Given the description of an element on the screen output the (x, y) to click on. 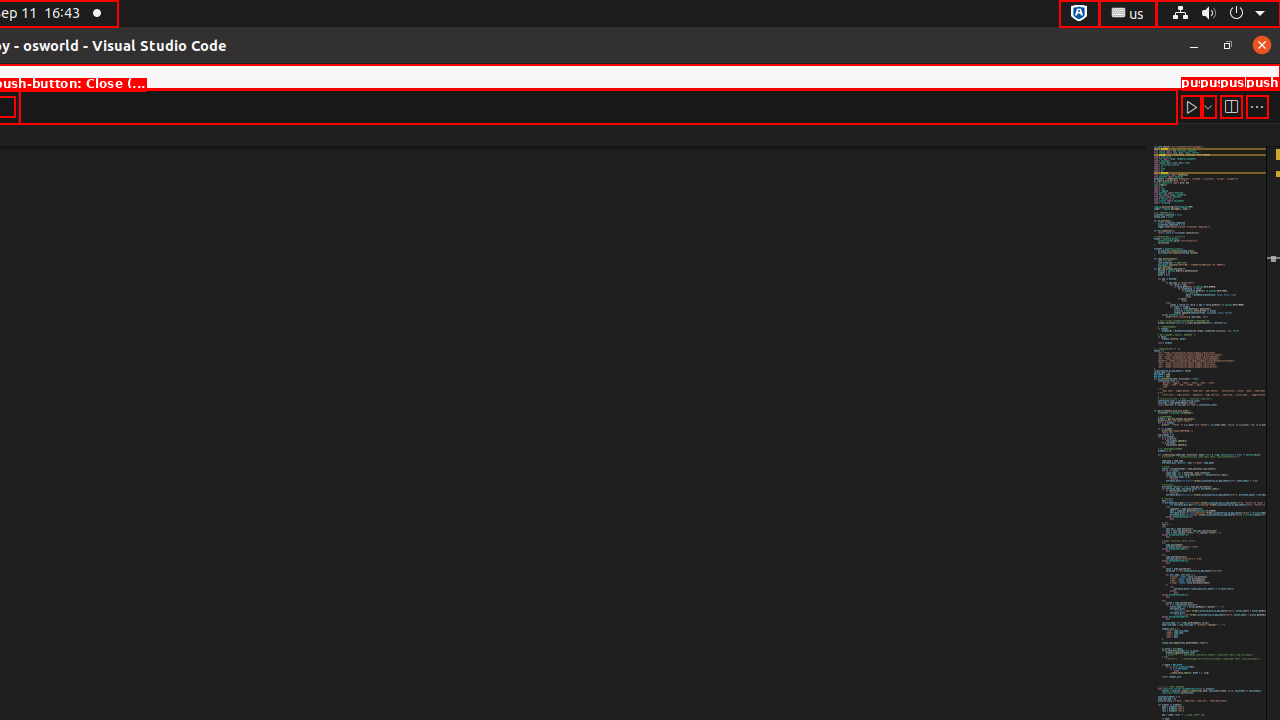
Run or Debug... Element type: push-button (1208, 106)
:1.21/StatusNotifierItem Element type: menu (1127, 13)
Split Editor Right (Ctrl+\) [Alt] Split Editor Down Element type: push-button (1231, 106)
